Given the description of an element on the screen output the (x, y) to click on. 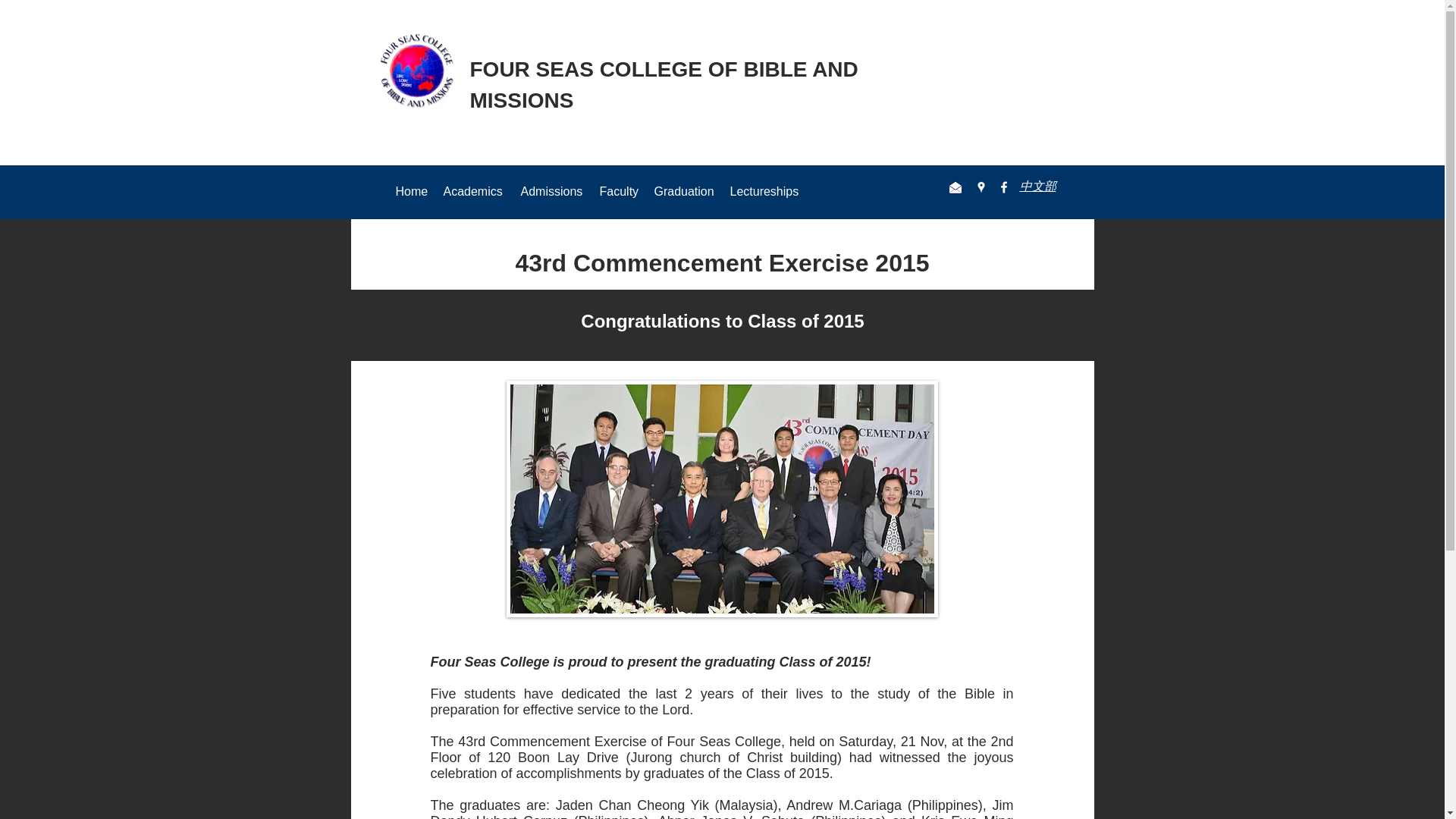
Admissions (551, 191)
Faculty (618, 191)
Academics (473, 191)
Graduation (684, 191)
Home (411, 191)
Lectureships (765, 191)
